Given the description of an element on the screen output the (x, y) to click on. 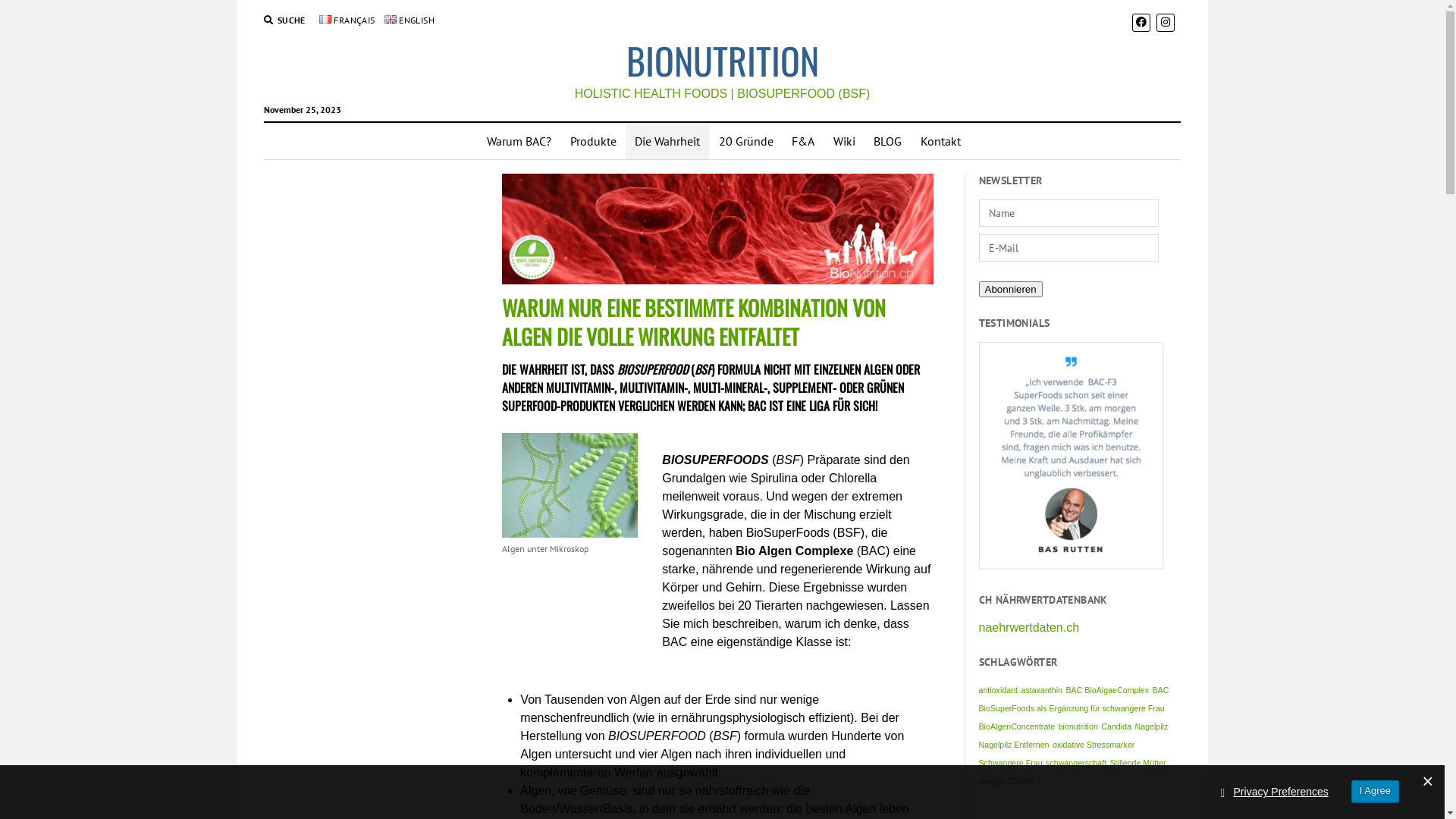
English Element type: hover (390, 19)
Nagelpilz Element type: text (1150, 726)
bionutrition Element type: text (1078, 726)
BAC BioAlgaeComplex Element type: text (1106, 689)
oxidative Stressmarker Element type: text (1093, 744)
Wiki Element type: text (844, 140)
Kontakt Element type: text (940, 140)
facebook Element type: hover (1140, 21)
Die Wahrheit Element type: text (667, 140)
Suche Element type: text (947, 129)
I Agree Element type: text (1375, 791)
astaxanthin Element type: text (1042, 689)
antioxidant Element type: text (998, 689)
weniger Zucker Element type: text (1006, 780)
instagram Element type: hover (1165, 21)
Nagelpilz Entfernen Element type: text (1014, 744)
ENGLISH Element type: text (409, 20)
BioAlgenConcentrate Element type: text (1017, 726)
BIONUTRITION Element type: text (722, 60)
schwangerschaft Element type: text (1075, 762)
Candida Element type: text (1116, 726)
Abonnieren Element type: text (1010, 289)
Produkte Element type: text (593, 140)
SUCHE Element type: text (284, 20)
Privacy Preferences Element type: text (1281, 791)
BLOG Element type: text (887, 140)
F&A Element type: text (802, 140)
Warum BAC? Element type: text (518, 140)
naehrwertdaten.ch Element type: text (1029, 627)
Schwangere Frau Element type: text (1010, 762)
